Given the description of an element on the screen output the (x, y) to click on. 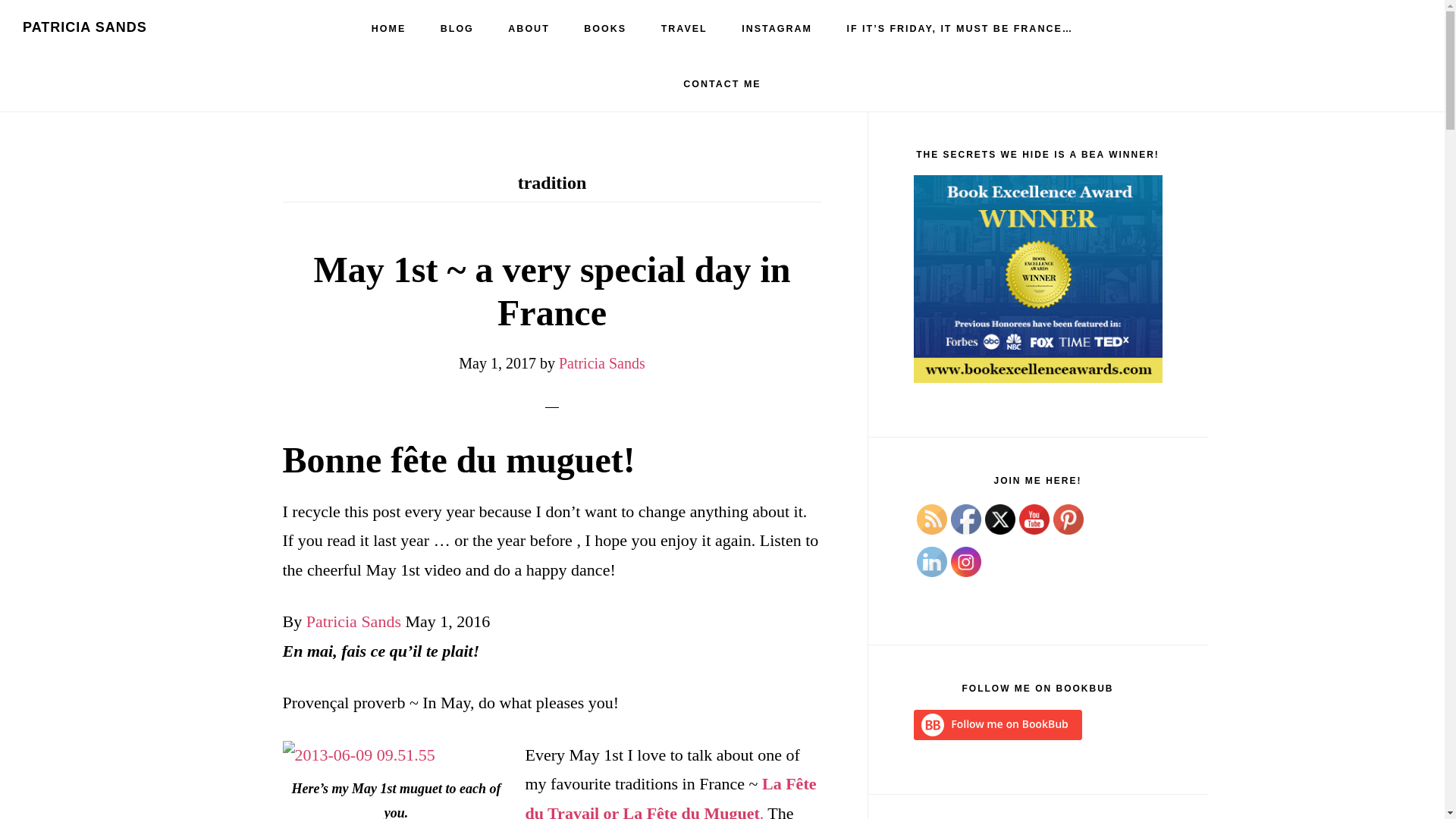
BLOG (457, 28)
Twitter (999, 519)
INSTAGRAM (776, 28)
HOME (389, 28)
Patricia Sands (602, 362)
YouTube (1034, 519)
LinkedIn (930, 562)
BOOKS (605, 28)
Patricia Sands (353, 620)
Pinterest (1067, 519)
RSS (930, 519)
ABOUT (528, 28)
Instagram (965, 562)
CONTACT ME (722, 83)
